Given the description of an element on the screen output the (x, y) to click on. 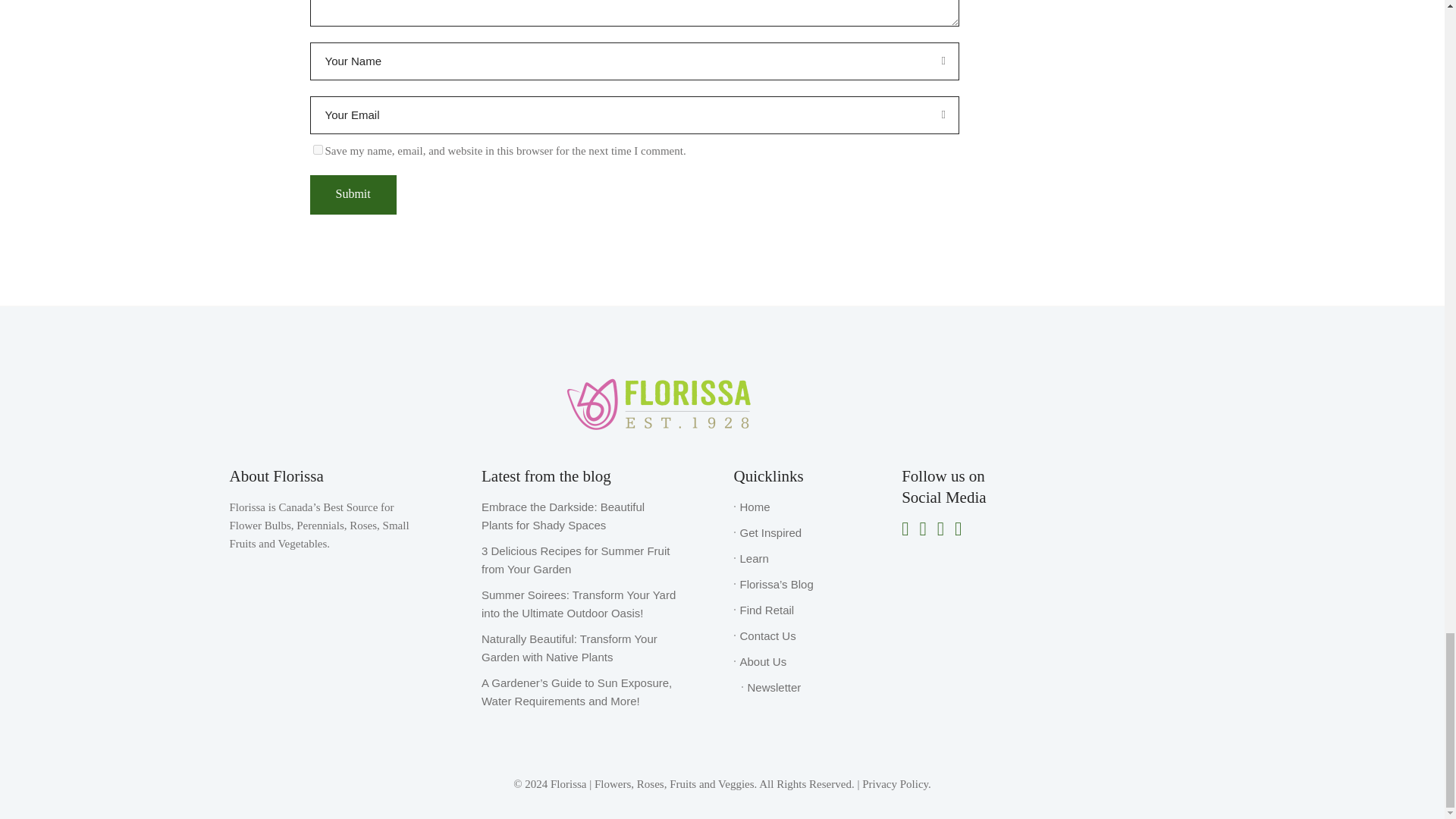
yes (317, 149)
